Given the description of an element on the screen output the (x, y) to click on. 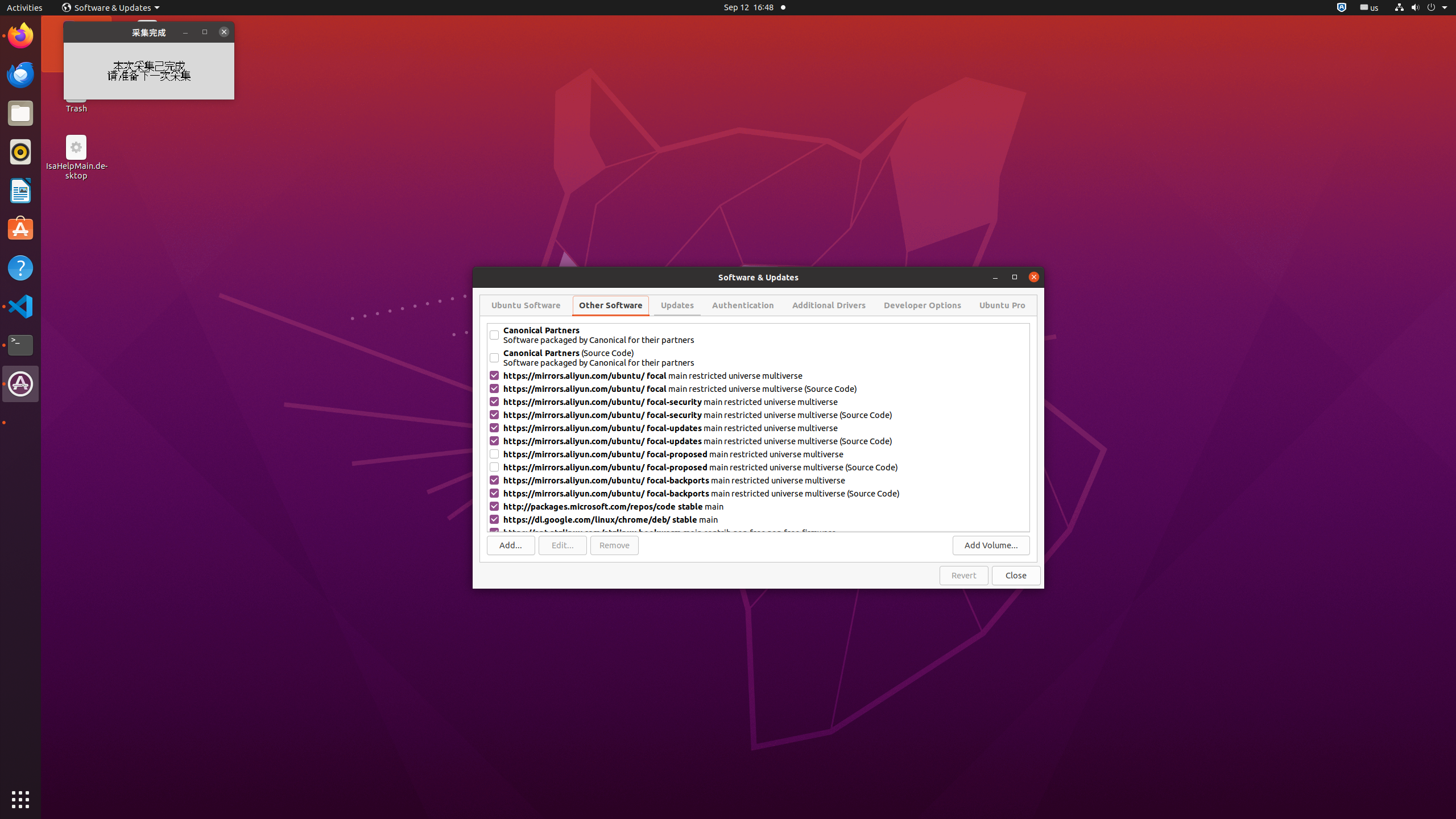
https://mirrors.aliyun.com/ubuntu/ focal-security main restricted universe multiverse Element type: table-cell (765, 401)
https://mirrors.aliyun.com/ubuntu/ focal-backports main restricted universe multiverse (Source Code) Element type: table-cell (765, 493)
https://dl.google.com/linux/chrome/deb/ stable main Element type: table-cell (765, 519)
https://mirrors.aliyun.com/ubuntu/ focal-proposed main restricted universe multiverse Element type: table-cell (765, 454)
